Given the description of an element on the screen output the (x, y) to click on. 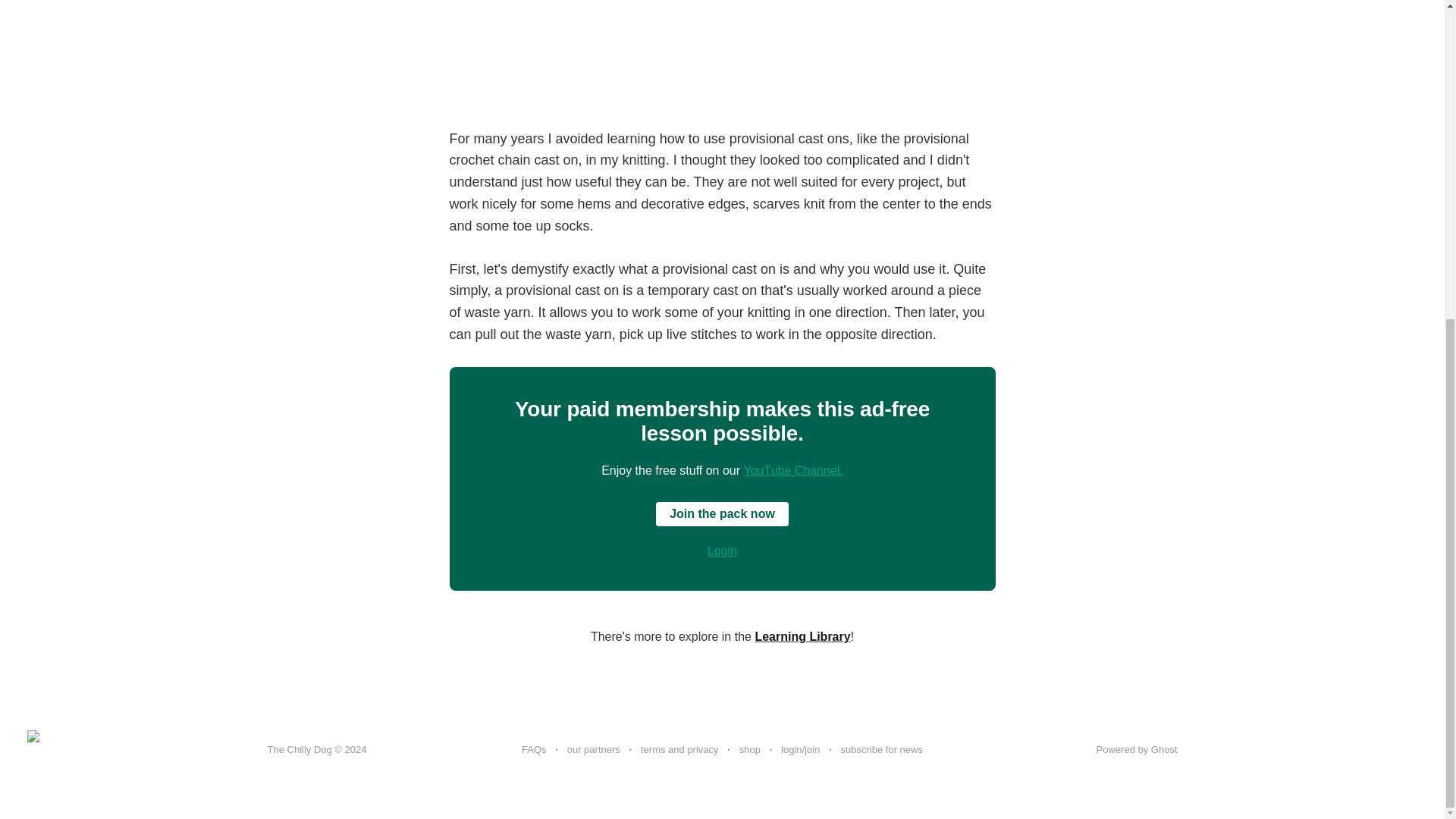
shop (749, 750)
Powered by Ghost (1136, 749)
Login (721, 550)
YouTube Channel. (792, 470)
subscribe for news (882, 750)
FAQs (534, 750)
Join the pack now (722, 514)
terms and privacy (679, 750)
Learning Library (802, 635)
our partners (593, 750)
